Given the description of an element on the screen output the (x, y) to click on. 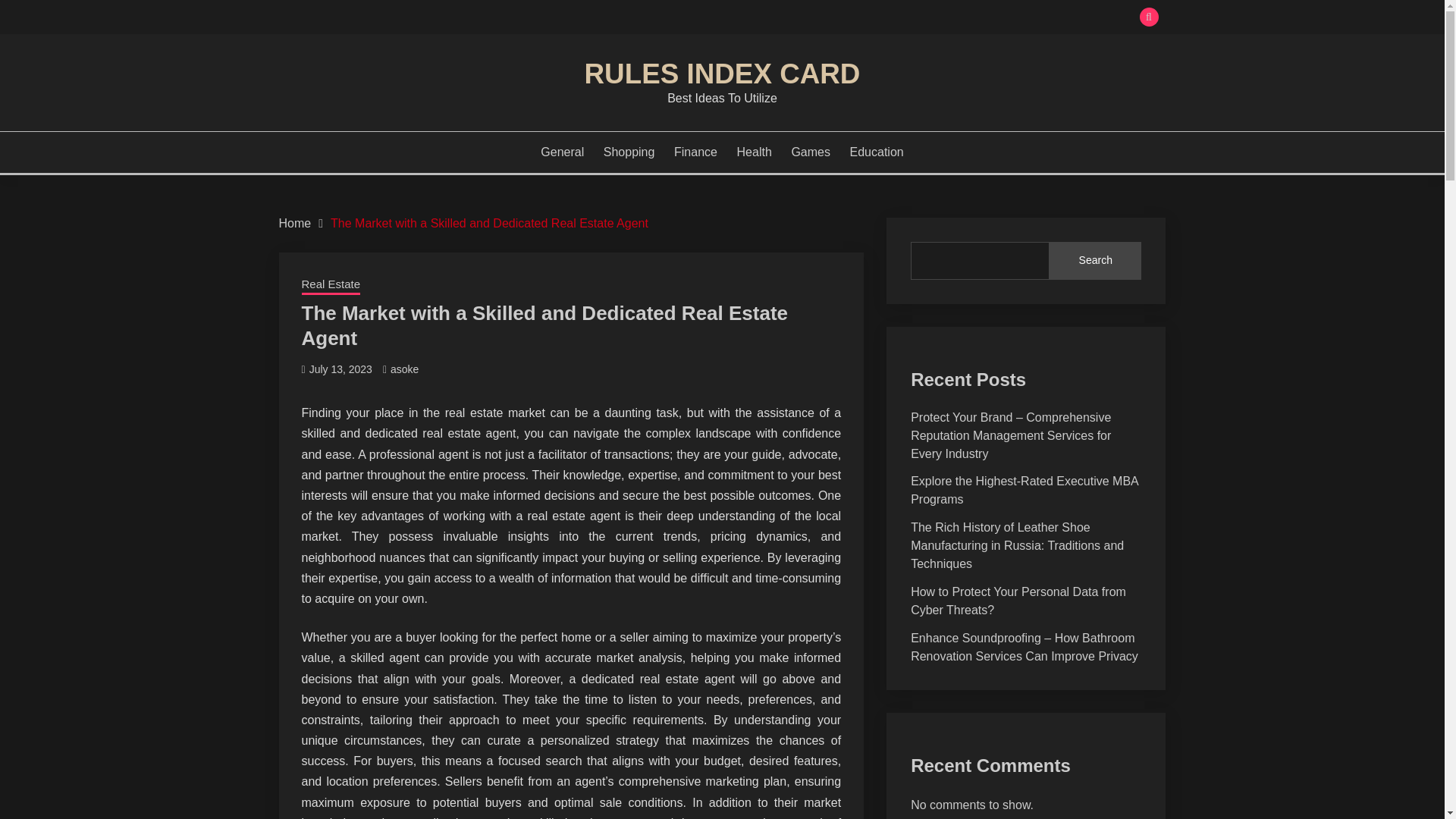
July 13, 2023 (340, 369)
Search (1095, 260)
The Market with a Skilled and Dedicated Real Estate Agent (488, 223)
asoke (404, 369)
Health (753, 152)
Games (809, 152)
Explore the Highest-Rated Executive MBA Programs (1024, 490)
General (561, 152)
Education (877, 152)
Finance (695, 152)
Search (832, 18)
How to Protect Your Personal Data from Cyber Threats? (1018, 600)
Home (295, 223)
Shopping (629, 152)
